Given the description of an element on the screen output the (x, y) to click on. 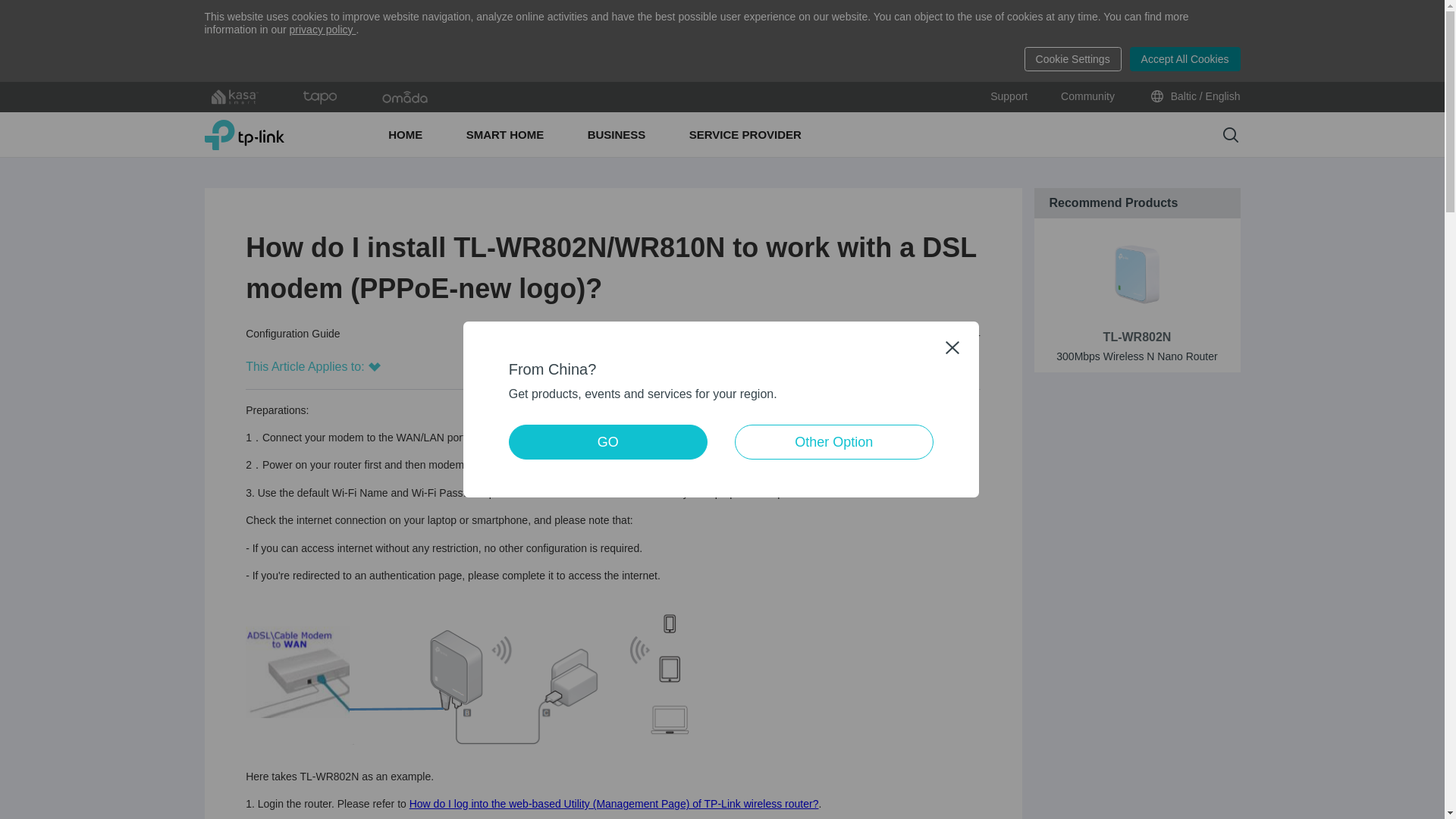
privacy policy (322, 29)
Cookie Settings (1073, 58)
TP-Link, Reliably Smart (244, 134)
Community (1088, 96)
tapo (319, 96)
Accept All Cookies (1184, 58)
Support (1008, 96)
kasa (234, 96)
omada (404, 96)
Search (1230, 134)
